Given the description of an element on the screen output the (x, y) to click on. 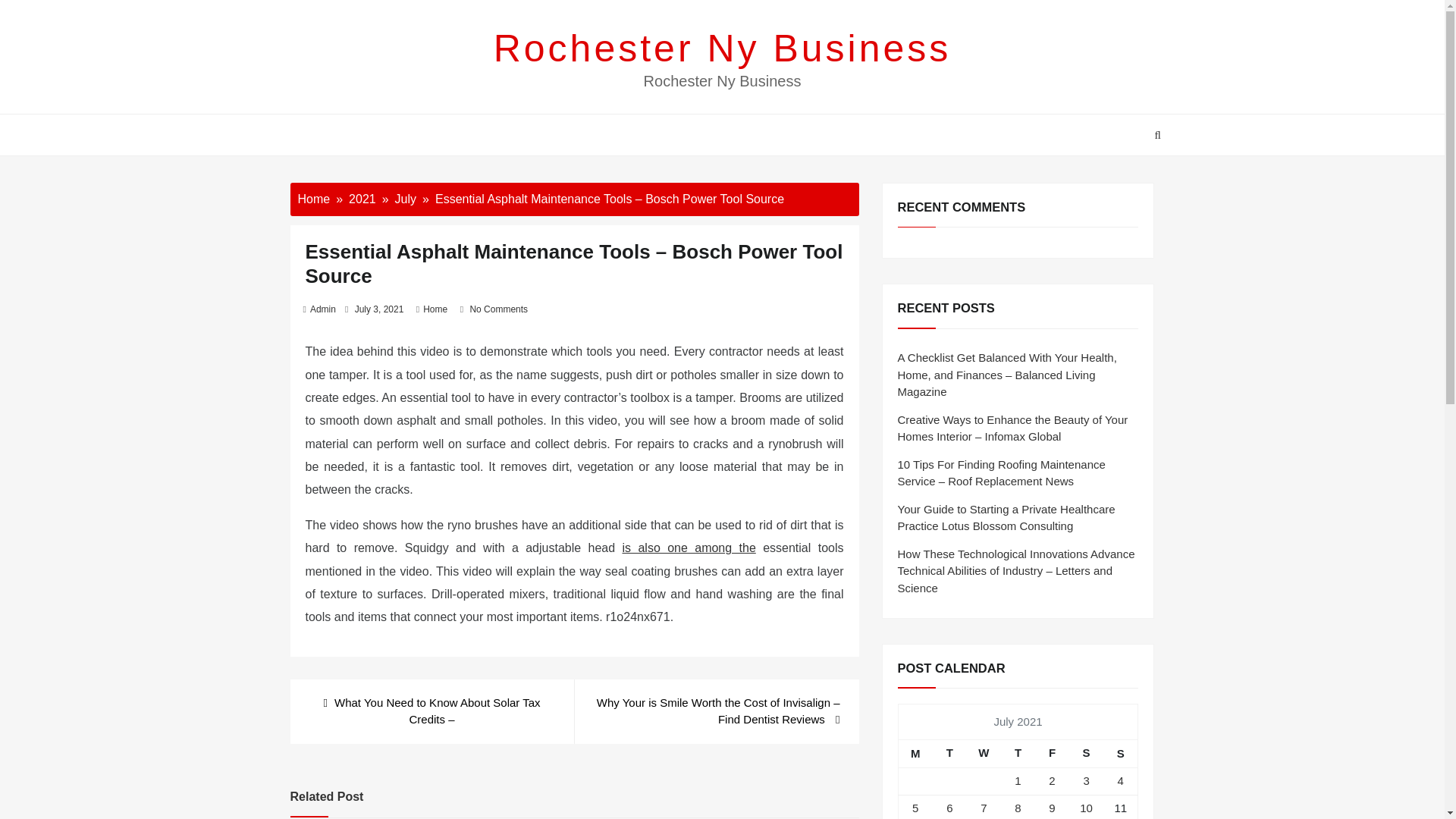
Admin (323, 308)
Tuesday (949, 754)
is also one among the (688, 547)
July (405, 198)
Wednesday (983, 754)
2021 (362, 198)
Thursday (1018, 754)
Saturday (1085, 754)
Sunday (1120, 754)
Monday (915, 754)
Rochester Ny Business (722, 48)
Home (434, 308)
Home (313, 198)
No Comments (497, 308)
